Given the description of an element on the screen output the (x, y) to click on. 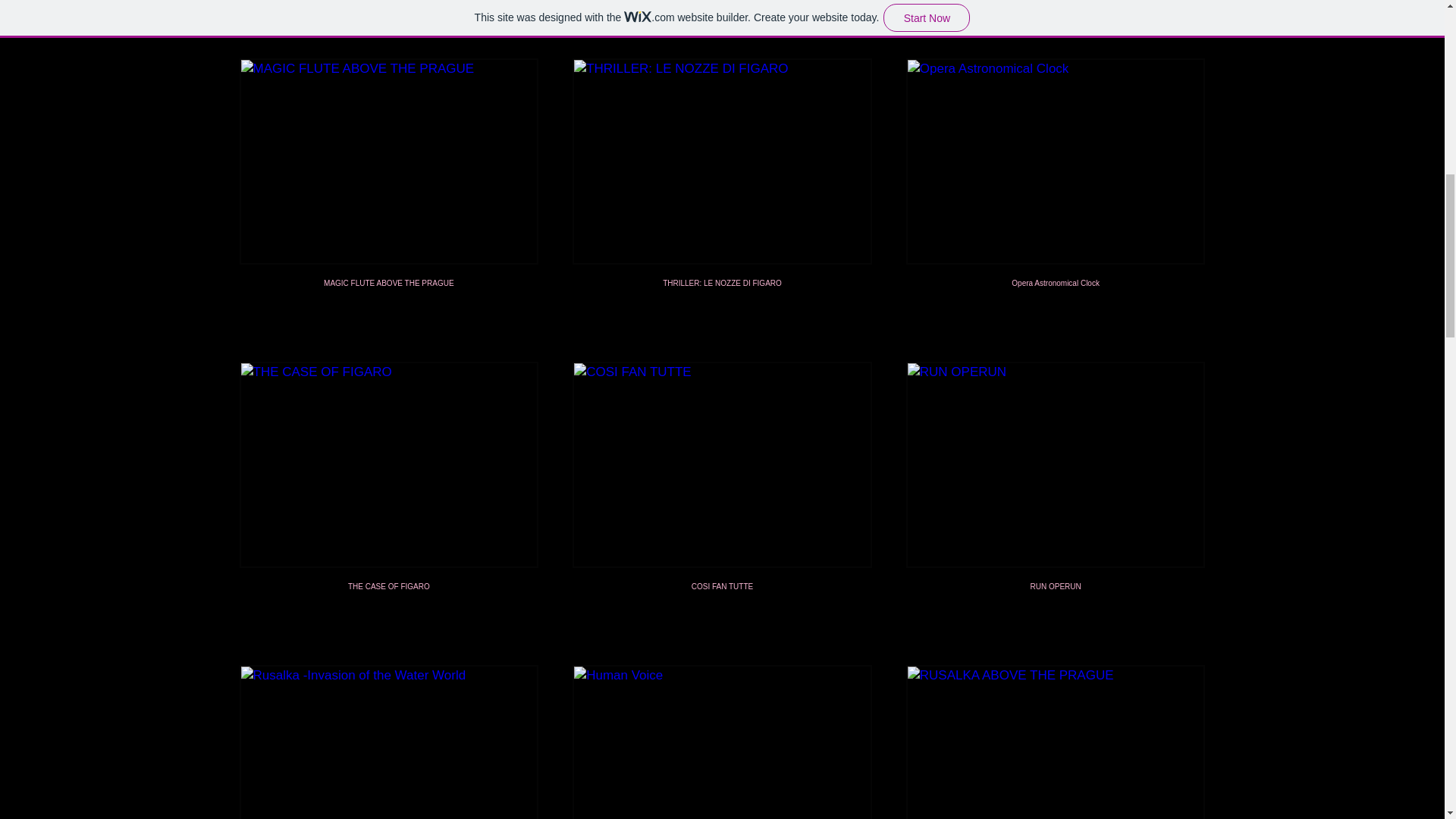
Human Voice (722, 742)
THRILLER: LE NOZZE DI FIGARO (722, 192)
RUSALKA ABOVE THE PRAGUE (1055, 742)
THE CASE OF FIGARO (389, 495)
Rusalka -Invasion of the Water World (389, 742)
COSI FAN TUTTE (722, 495)
RUN OPERUN (1055, 495)
Opera Astronomical Clock (1055, 192)
MAGIC FLUTE ABOVE THE PRAGUE (389, 192)
